Given the description of an element on the screen output the (x, y) to click on. 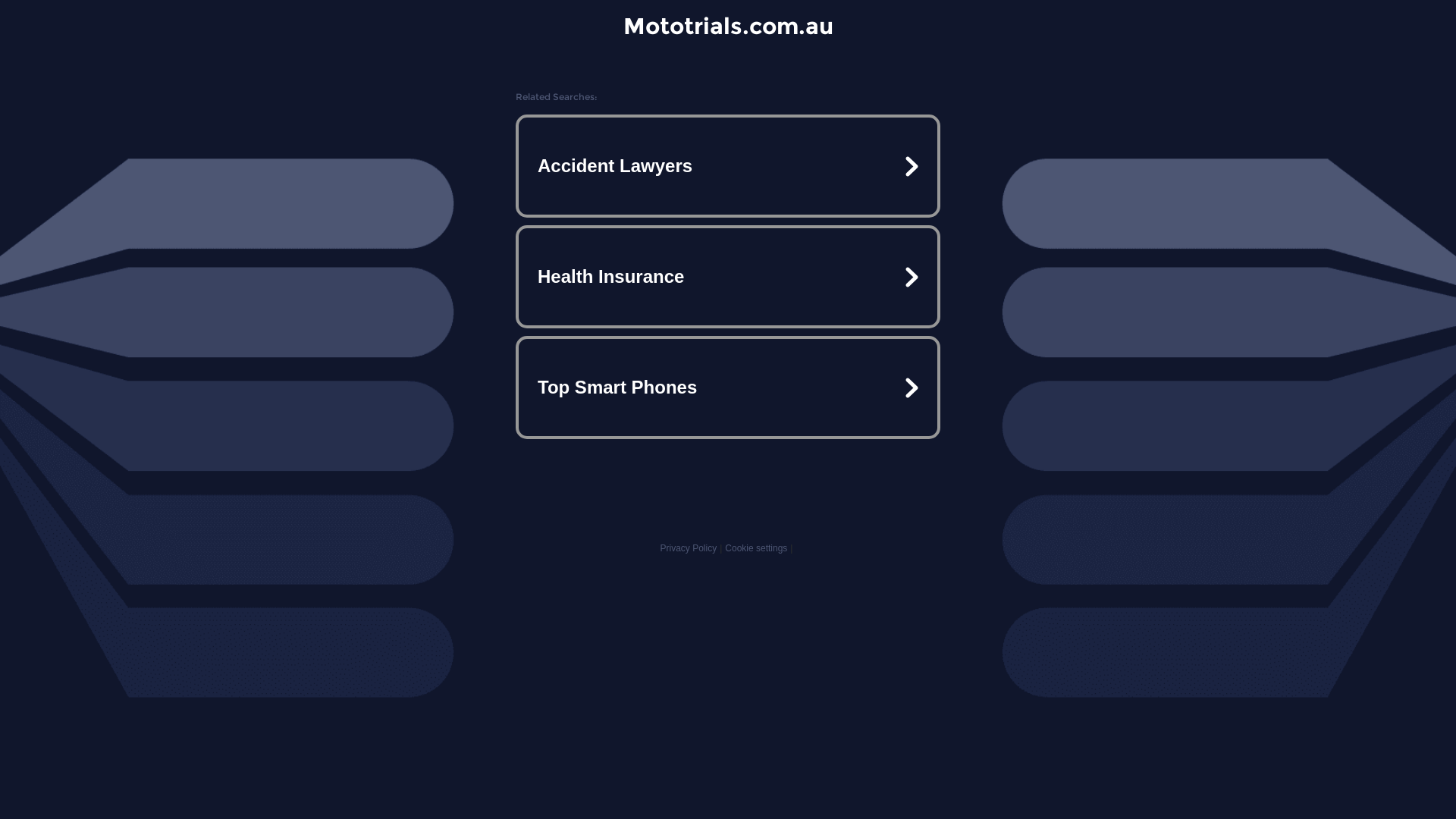
Top Smart Phones Element type: text (727, 387)
Cookie settings Element type: text (755, 547)
Mototrials.com.au Element type: text (728, 26)
Health Insurance Element type: text (727, 276)
Privacy Policy Element type: text (687, 547)
Accident Lawyers Element type: text (727, 165)
